Given the description of an element on the screen output the (x, y) to click on. 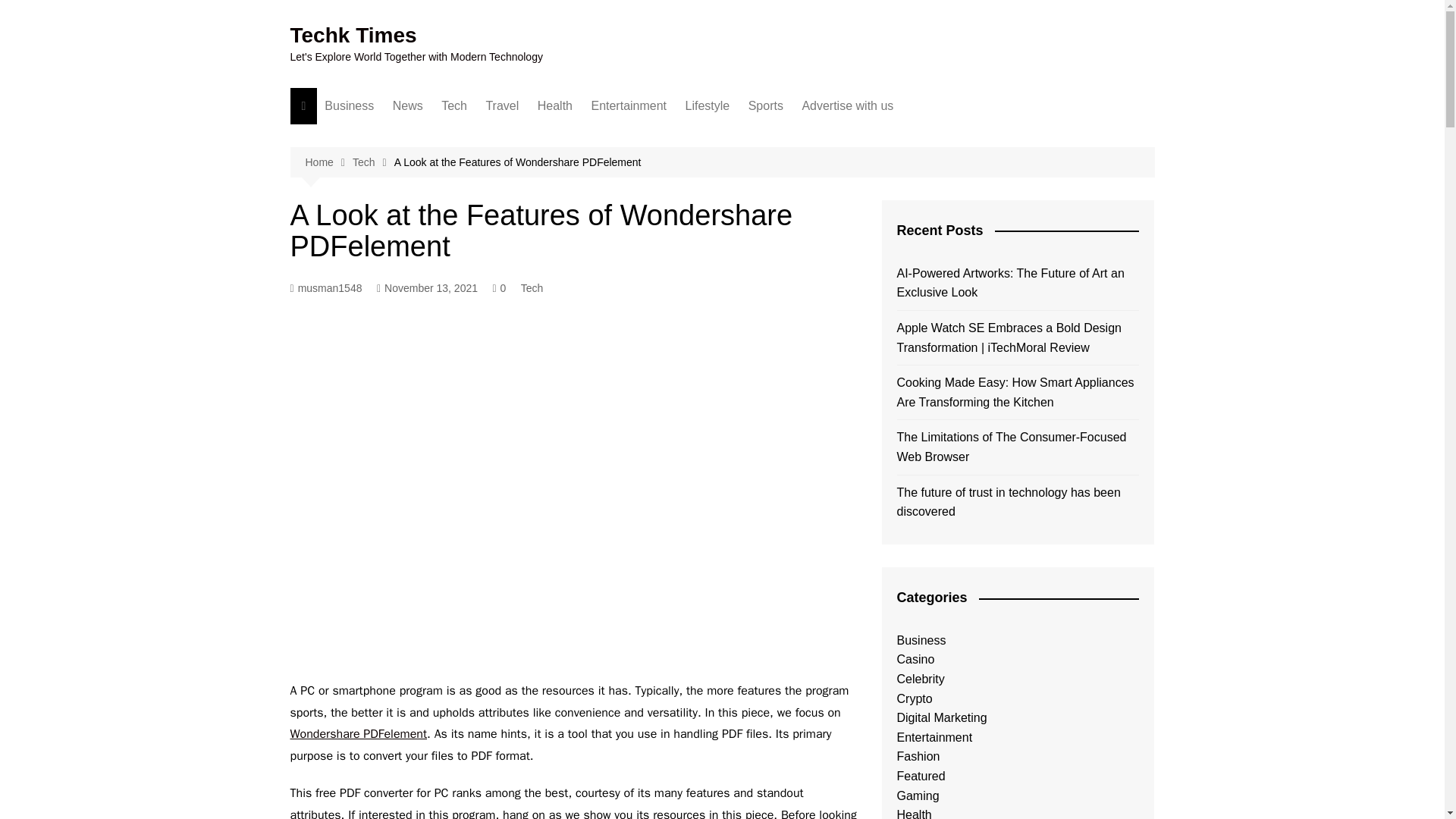
Movies (666, 136)
Business (349, 105)
musman1548 (325, 288)
Entertainment (628, 105)
Crypto (824, 186)
Wondershare PDFelement (357, 734)
Digital Marketing (400, 136)
Relationships (761, 136)
News (407, 105)
Health (554, 105)
Tech (453, 105)
Gaming (824, 161)
Techk Times (352, 34)
Advertise with us (847, 105)
A Look at the Features of Wondershare PDFelement (518, 161)
